Given the description of an element on the screen output the (x, y) to click on. 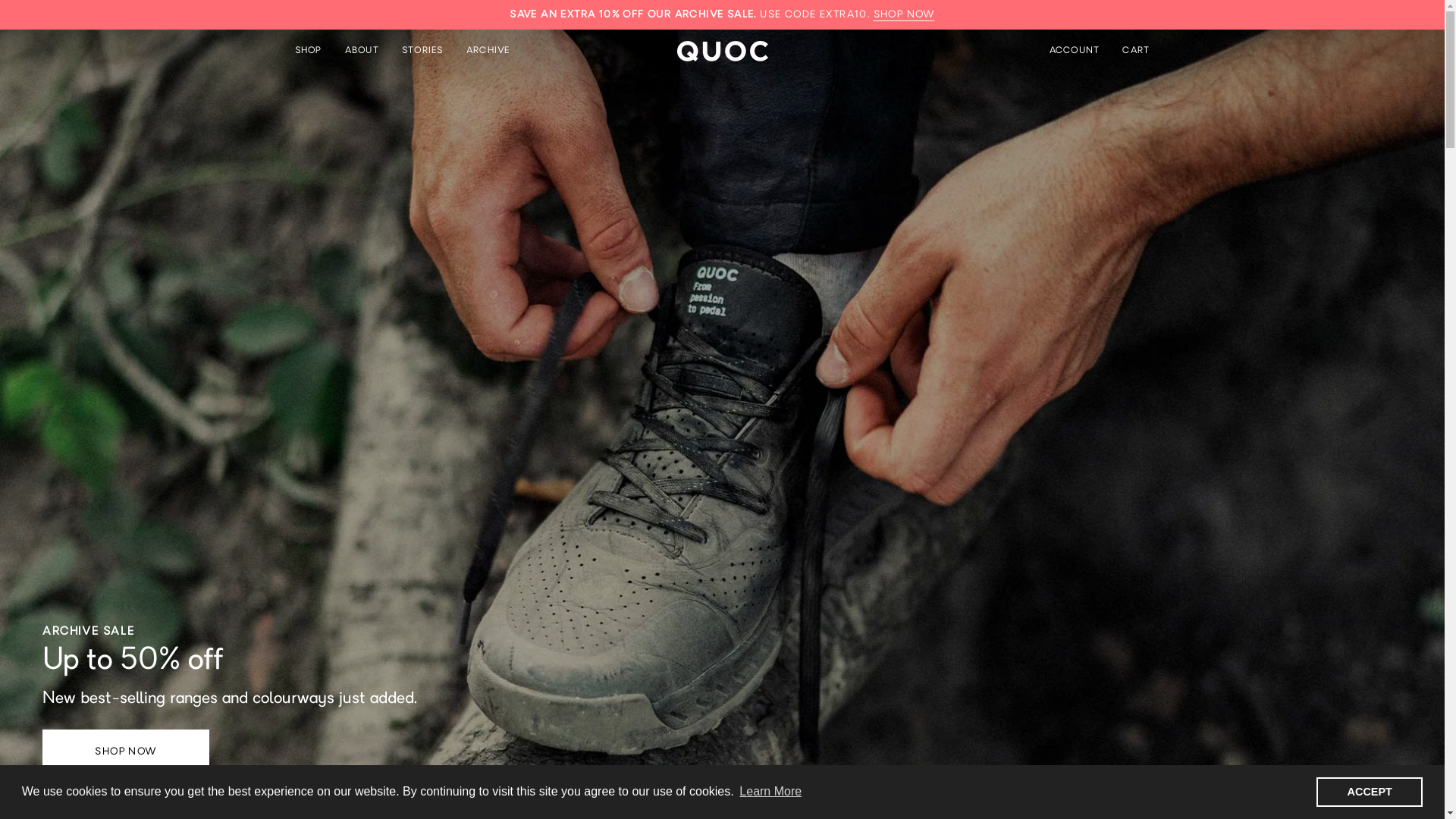
SHOP NOW Element type: text (125, 752)
STORIES Element type: text (422, 50)
View slide 3 Element type: text (1392, 810)
CART Element type: text (1135, 50)
View slide 4 Element type: text (1402, 810)
View slide 1 Element type: text (1372, 810)
SHOP NOW Element type: text (904, 14)
Learn More Element type: text (770, 791)
SHOP Element type: text (313, 50)
ARCHIVE Element type: text (488, 50)
View slide 2 Element type: text (1382, 810)
ACCOUNT Element type: text (1074, 50)
ABOUT Element type: text (361, 50)
ACCEPT Element type: text (1369, 791)
